Given the description of an element on the screen output the (x, y) to click on. 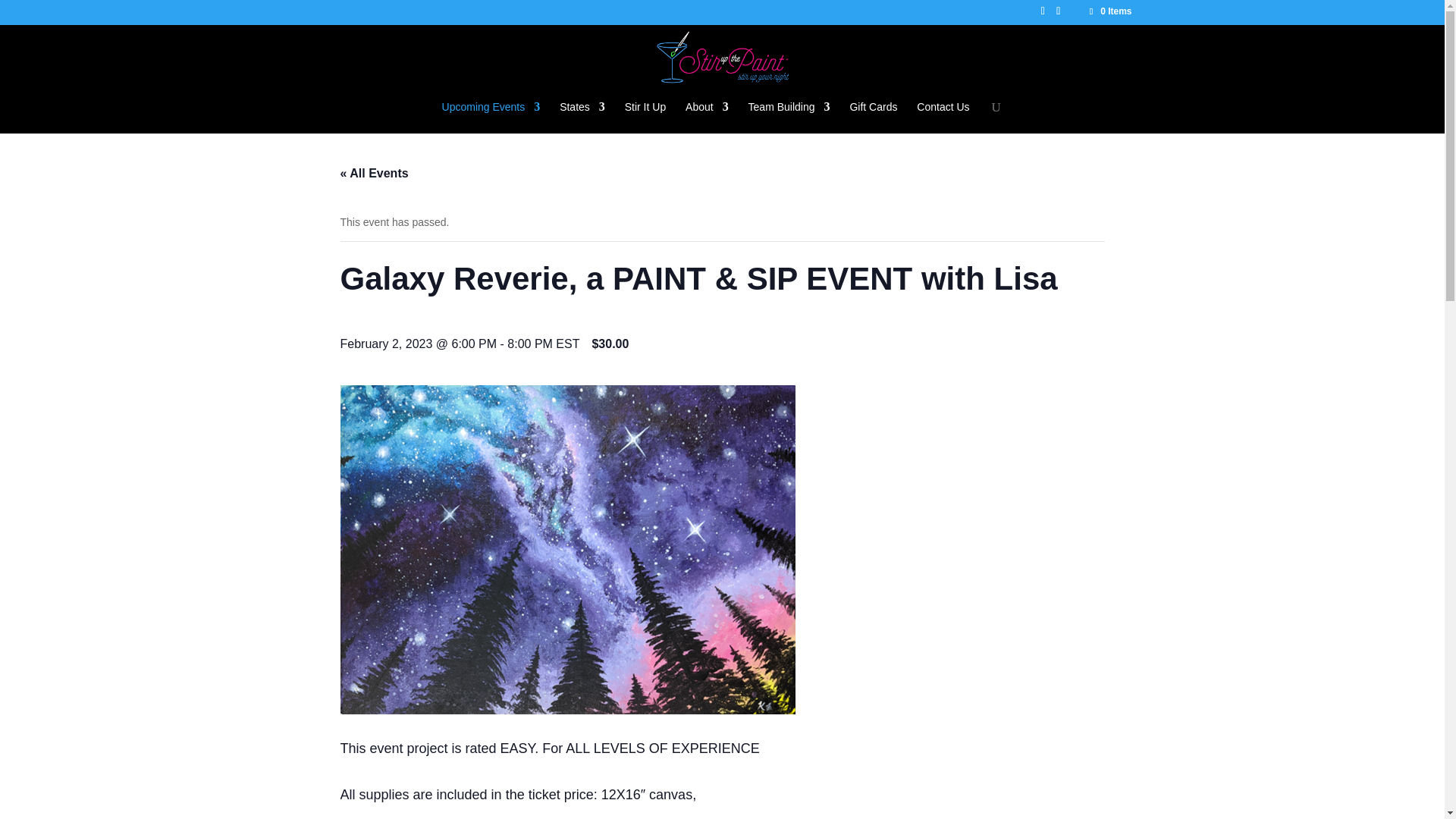
States (582, 117)
Gift Cards (872, 117)
About (707, 117)
0 Items (1108, 10)
Team Building (788, 117)
Upcoming Events (491, 117)
Stir It Up (644, 117)
Contact Us (943, 117)
